Given the description of an element on the screen output the (x, y) to click on. 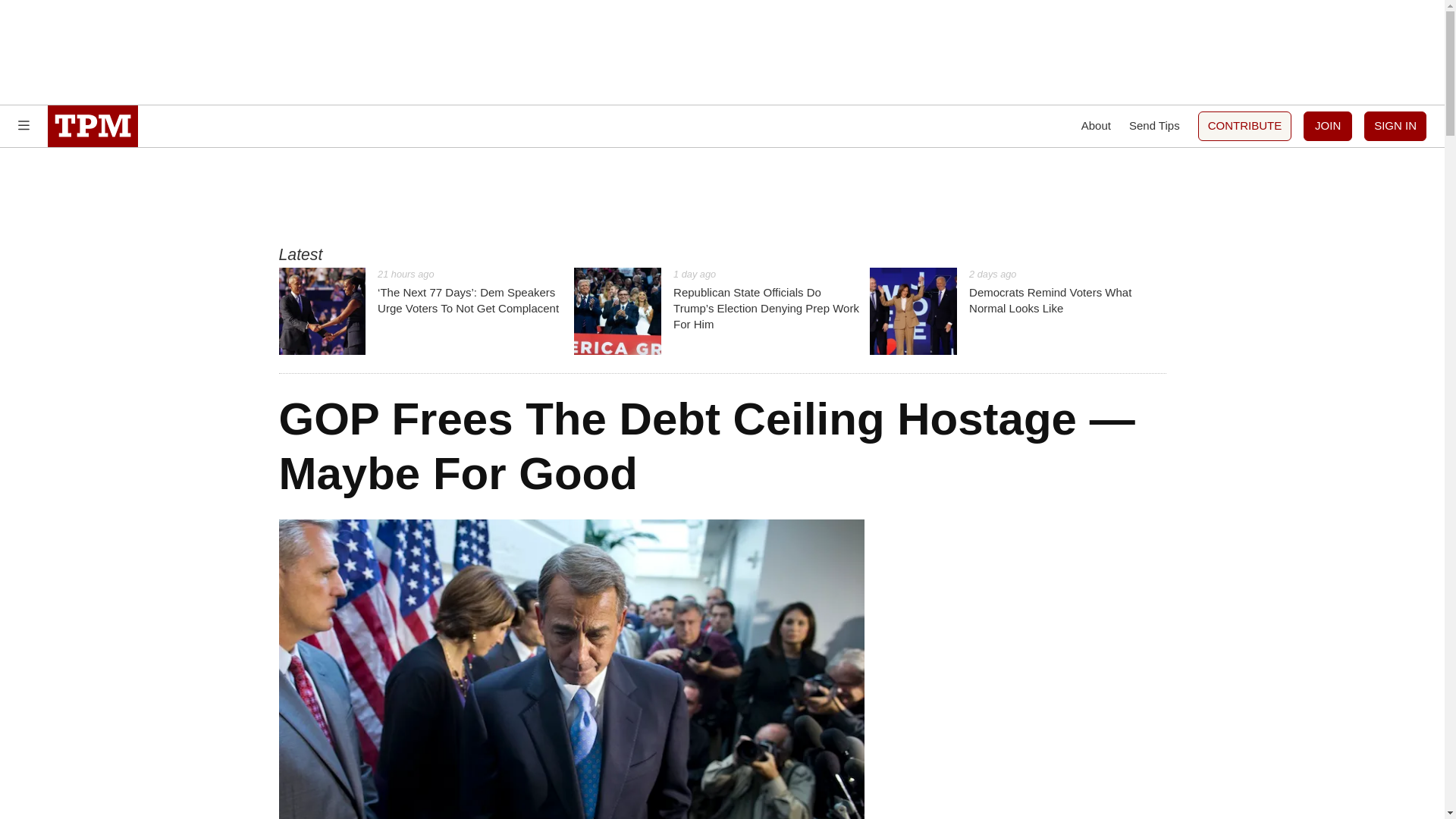
JOIN (1327, 125)
CONTRIBUTE (1245, 125)
About (1095, 125)
SIGN IN (1395, 125)
Send Tips (1017, 310)
